Given the description of an element on the screen output the (x, y) to click on. 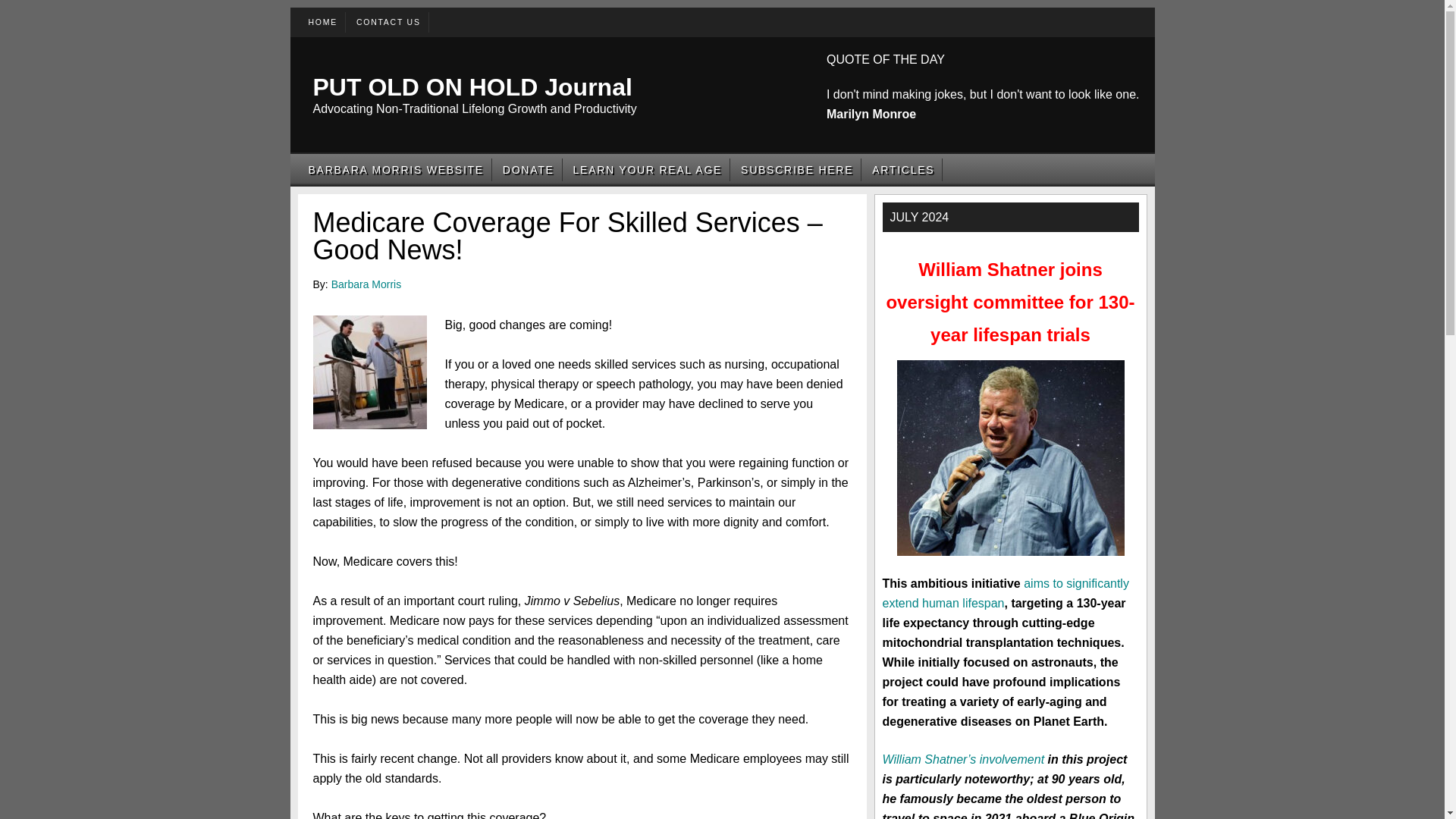
Learn Your REAL Age (648, 168)
LEARN YOUR REAL AGE (648, 168)
BARBARA MORRIS WEBSITE (394, 168)
CONTACT US (388, 22)
ARTICLES (903, 168)
DONATE (528, 168)
HOME (322, 22)
PUT OLD ON HOLD Journal (472, 85)
Barbara Morris (366, 283)
